Given the description of an element on the screen output the (x, y) to click on. 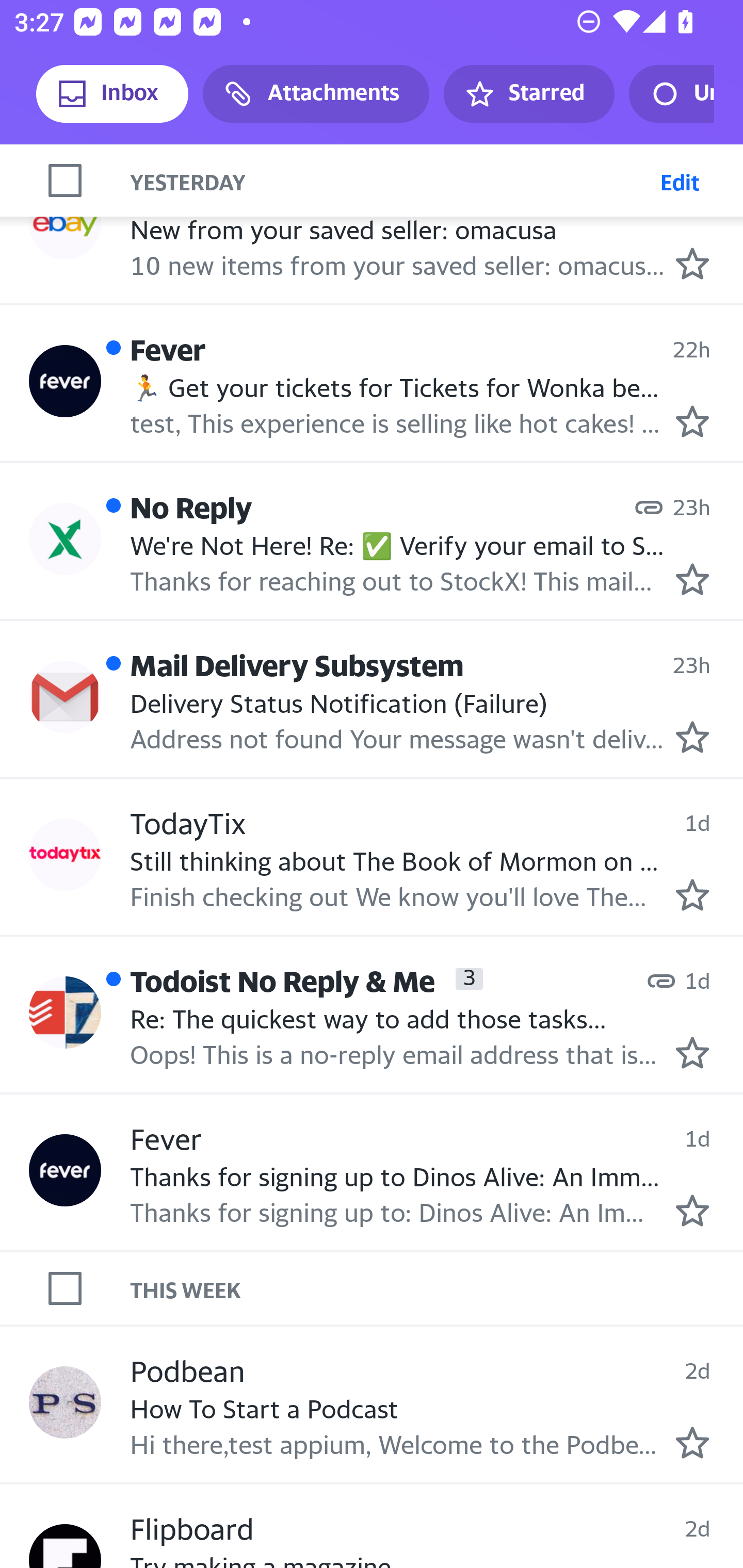
Attachments (315, 93)
Starred (528, 93)
Unread (671, 93)
Mark as starred. (692, 264)
Profile
Fever (64, 380)
Mark as starred. (692, 420)
Profile
No Reply (64, 539)
Mark as starred. (692, 579)
Profile
Mail Delivery Subsystem (64, 696)
Mark as starred. (692, 737)
Profile
TodayTix (64, 854)
Mark as starred. (692, 894)
Profile
Todoist No Reply & Me (64, 1012)
Mark as starred. (692, 1052)
Profile
Fever (64, 1169)
Mark as starred. (692, 1211)
THIS WEEK (436, 1287)
Profile
Podbean (64, 1401)
Mark as starred. (692, 1443)
